Given the description of an element on the screen output the (x, y) to click on. 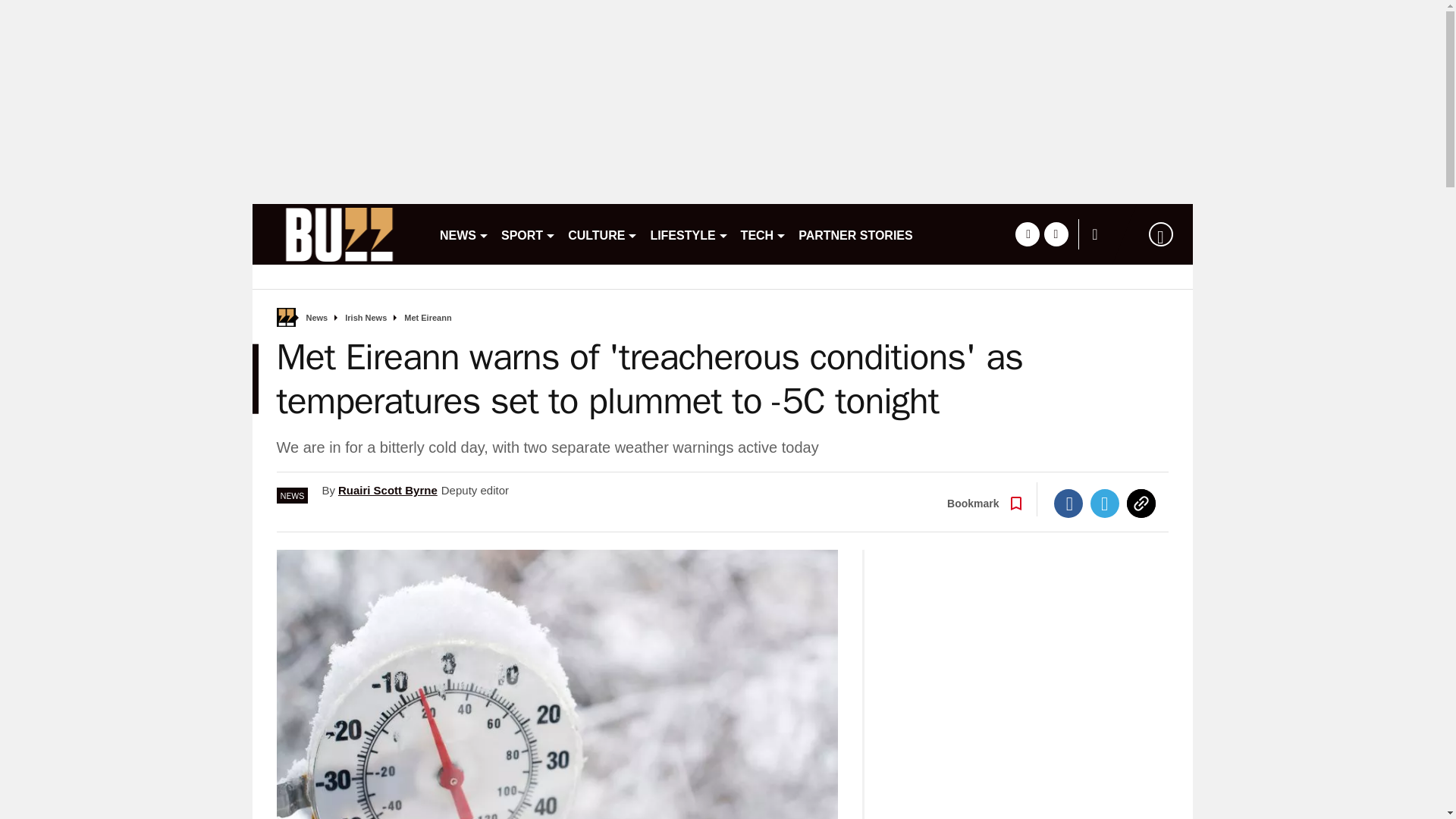
buzz (338, 233)
SPORT (528, 233)
facebook (1026, 233)
twitter (1055, 233)
TECH (764, 233)
Facebook (1068, 502)
Twitter (1104, 502)
CULTURE (602, 233)
NEWS (464, 233)
LIFESTYLE (688, 233)
